Given the description of an element on the screen output the (x, y) to click on. 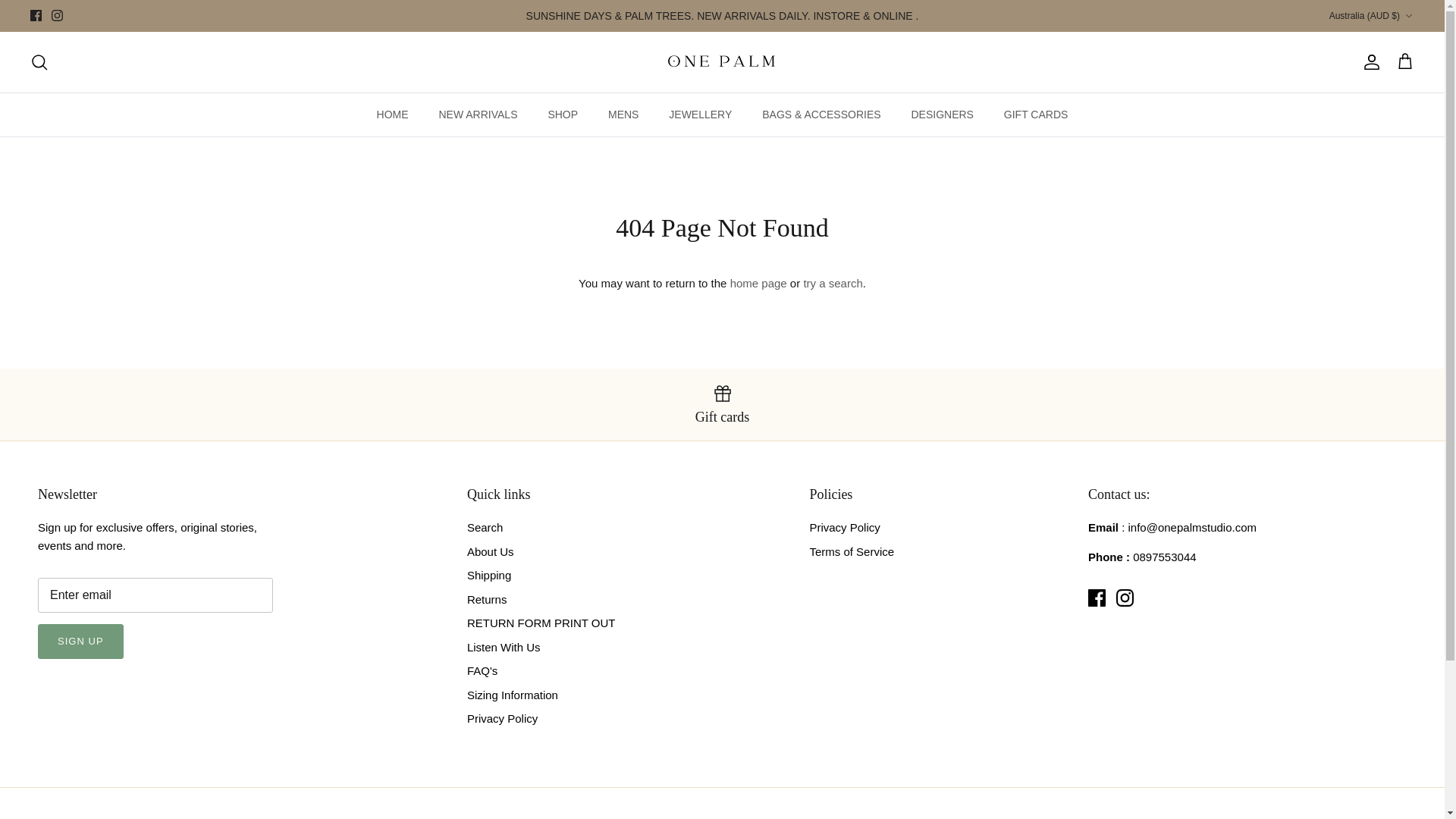
Facebook (1096, 597)
Instagram (56, 15)
One Palm Studio (722, 61)
tel:0897553044 (1163, 556)
Instagram (1125, 597)
Facebook (36, 15)
Instagram (56, 15)
Down (1408, 15)
Facebook (36, 15)
